Given the description of an element on the screen output the (x, y) to click on. 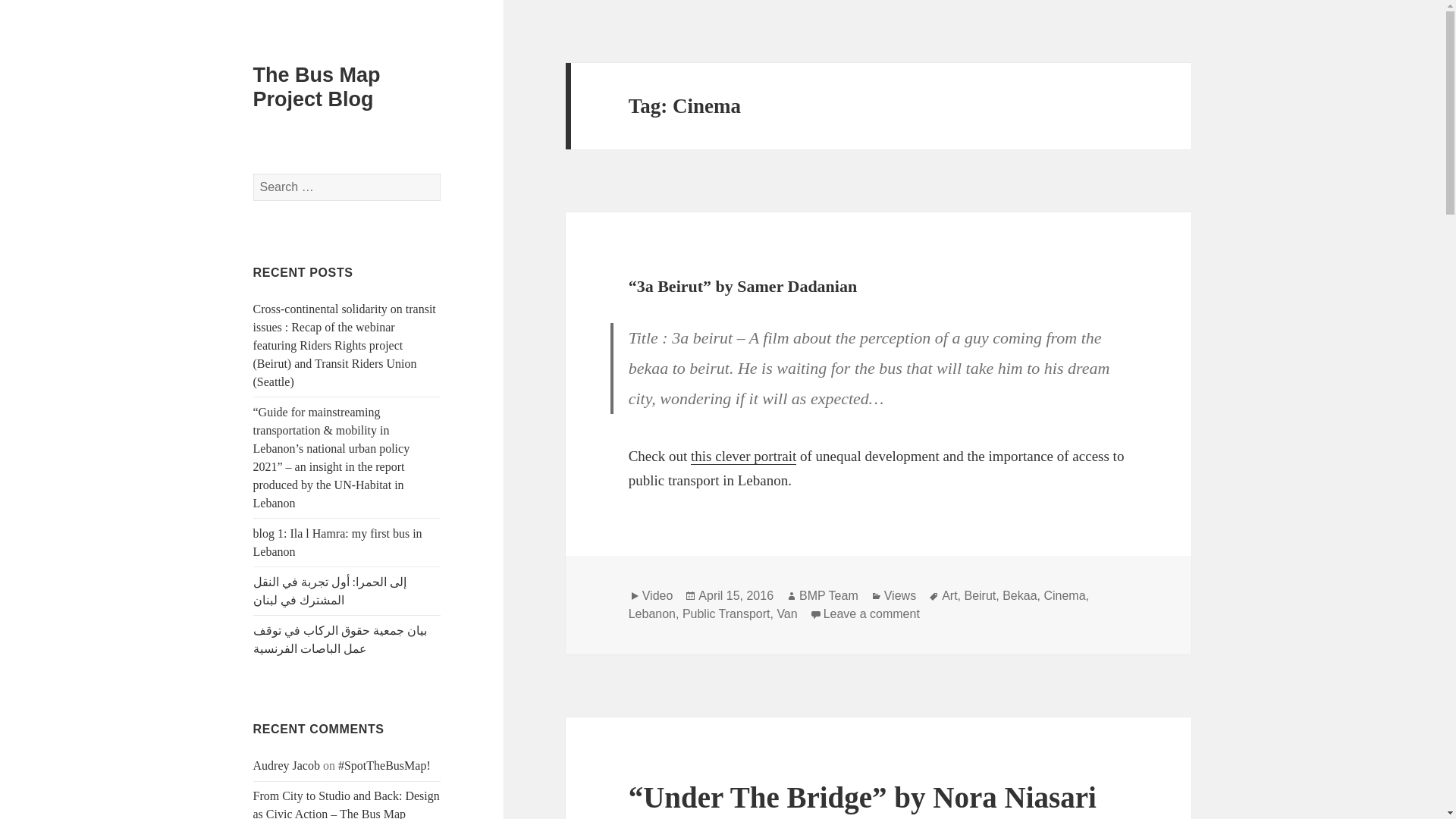
Audrey Jacob (286, 765)
The Bus Map Project Blog (316, 86)
blog 1: Ila l Hamra: my first bus in Lebanon  (337, 542)
